Given the description of an element on the screen output the (x, y) to click on. 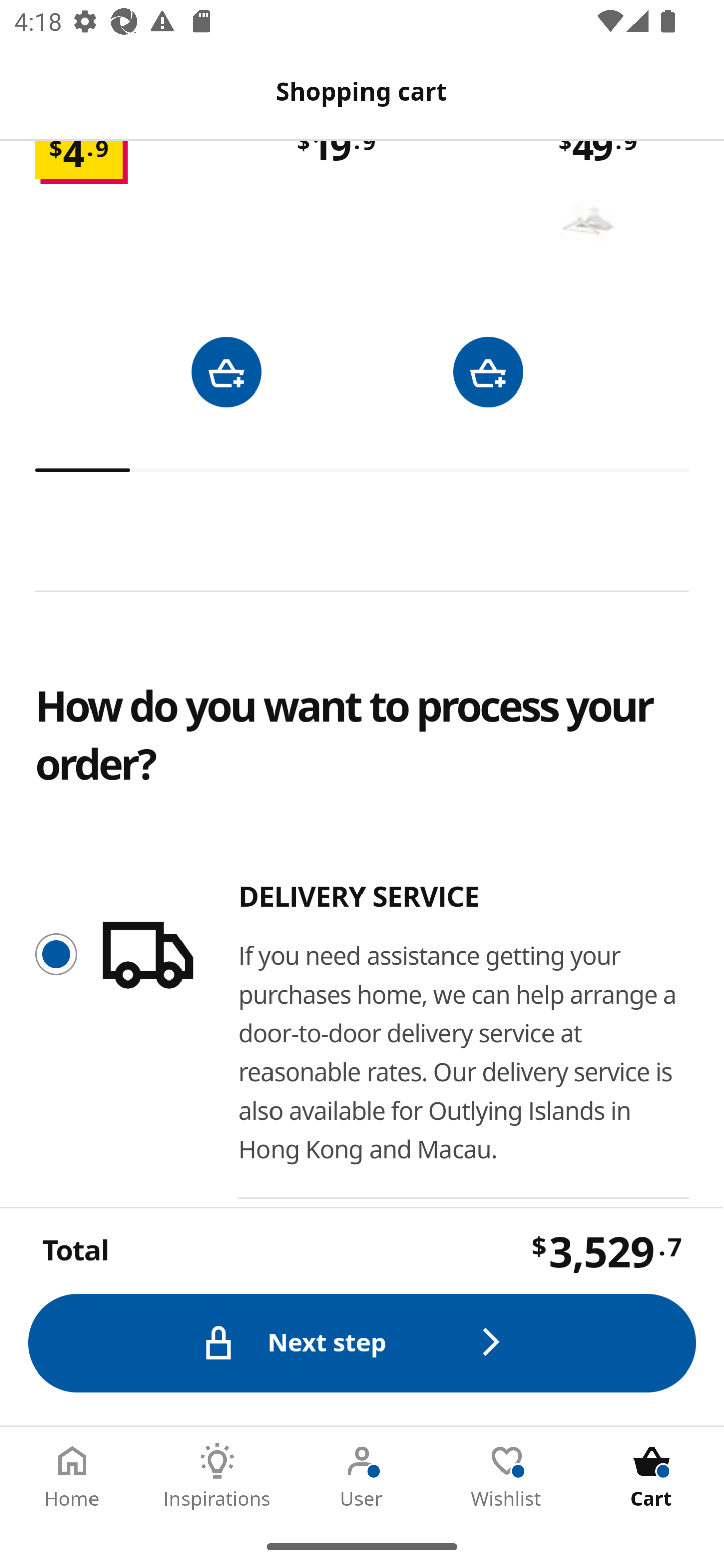
BUMERANG (588, 219)
 (225, 371)
 (487, 371)
0.0 (363, 470)
Home
Tab 1 of 5 (72, 1476)
Inspirations
Tab 2 of 5 (216, 1476)
User
Tab 3 of 5 (361, 1476)
Wishlist
Tab 4 of 5 (506, 1476)
Cart
Tab 5 of 5 (651, 1476)
